Given the description of an element on the screen output the (x, y) to click on. 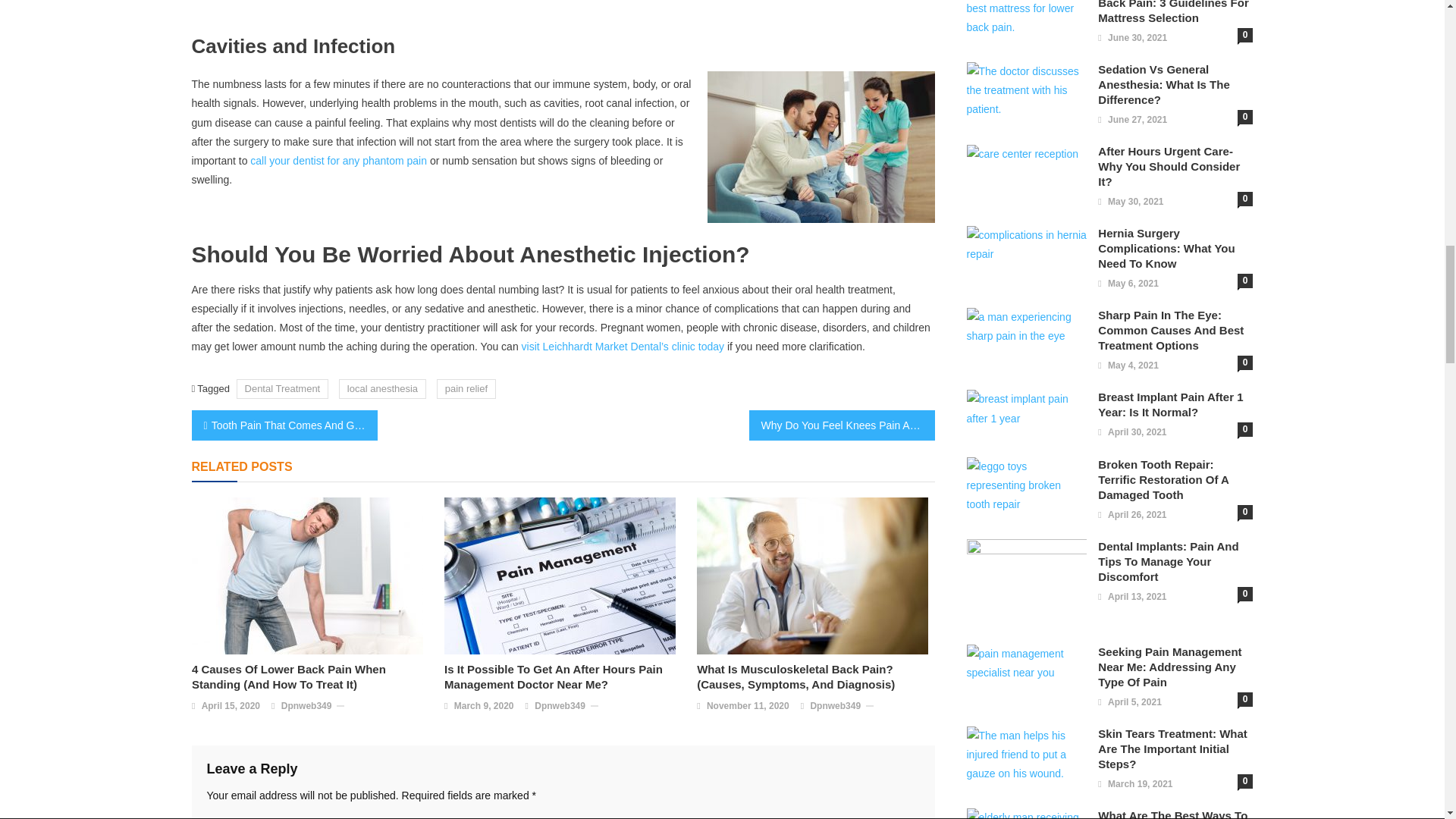
pain relief (466, 388)
March 9, 2020 (483, 706)
call your dentist for any phantom pain (336, 160)
Dental Treatment (282, 388)
April 15, 2020 (231, 706)
local anesthesia (382, 388)
Dpnweb349 (559, 706)
Dpnweb349 (306, 706)
